Given the description of an element on the screen output the (x, y) to click on. 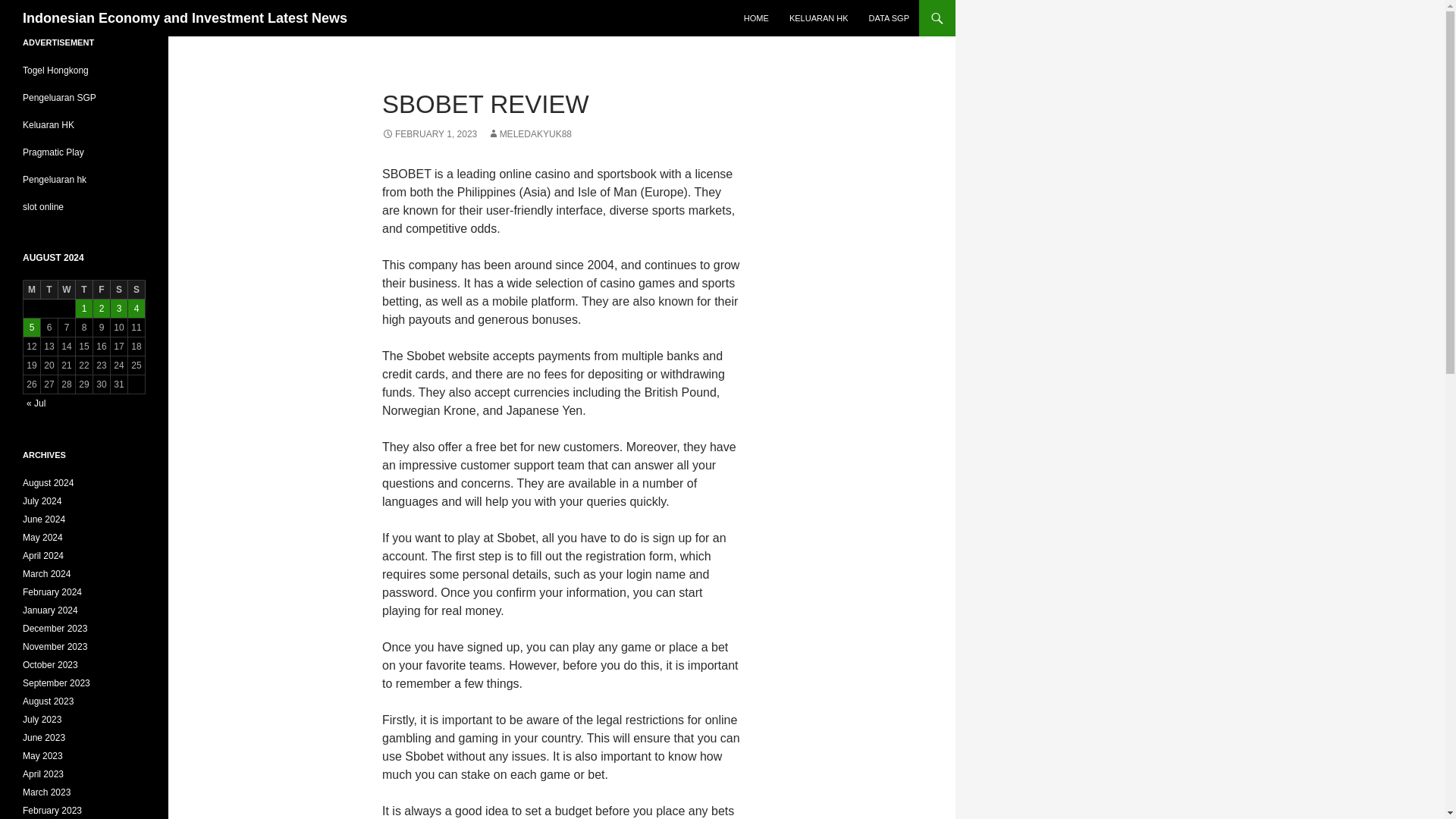
Wednesday (66, 289)
November 2023 (55, 646)
Thursday (84, 289)
Indonesian Economy and Investment Latest News (185, 18)
HOME (756, 18)
DATA SGP (889, 18)
September 2023 (56, 683)
Monday (31, 289)
KELUARAN HK (818, 18)
Saturday (119, 289)
